Given the description of an element on the screen output the (x, y) to click on. 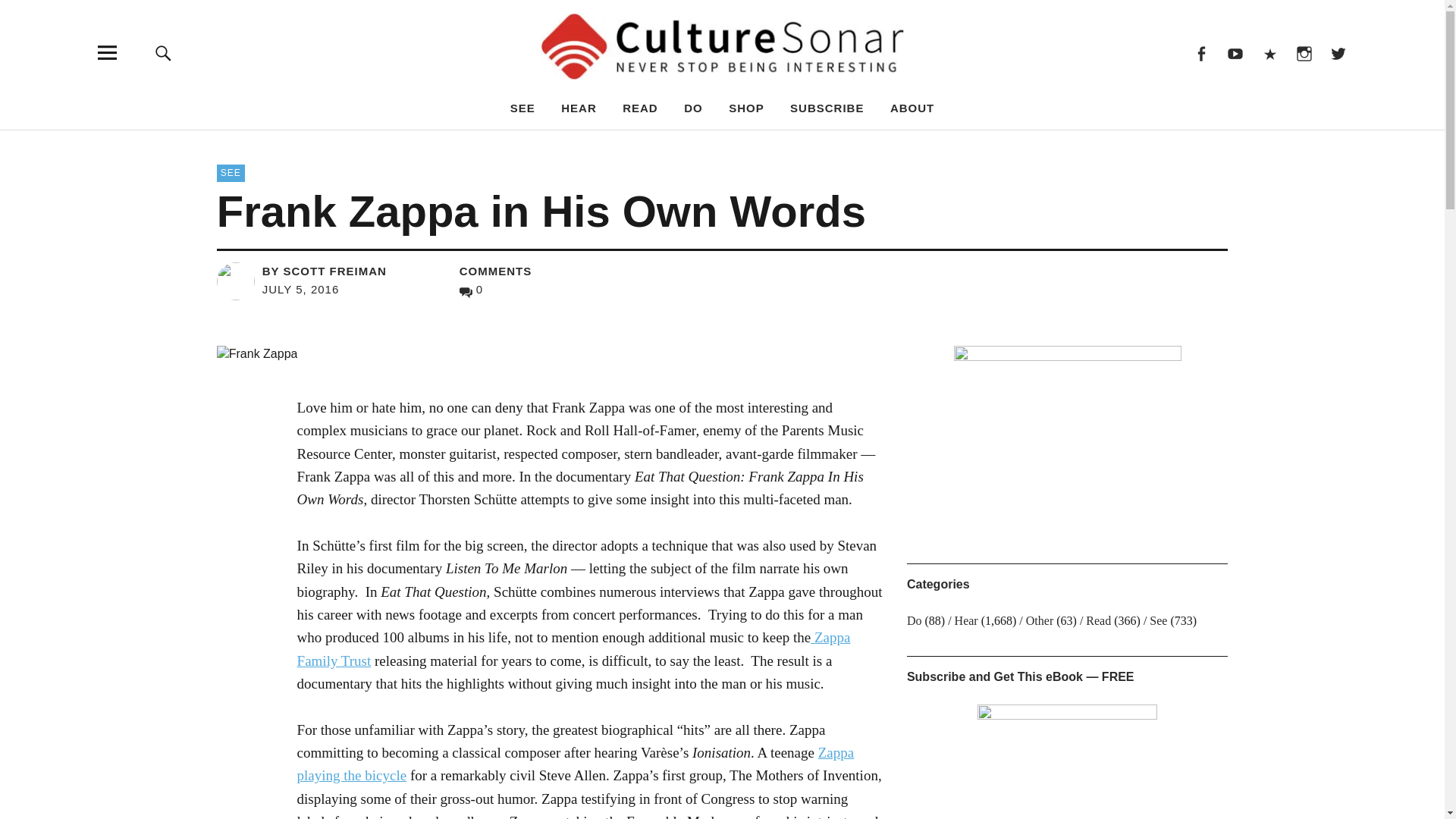
ABOUT (911, 107)
SHOP (746, 107)
HEAR (578, 107)
Search (965, 144)
READ (640, 107)
DO (693, 107)
SUBSCRIBE (826, 107)
SEE (523, 107)
SEE (230, 172)
